Given the description of an element on the screen output the (x, y) to click on. 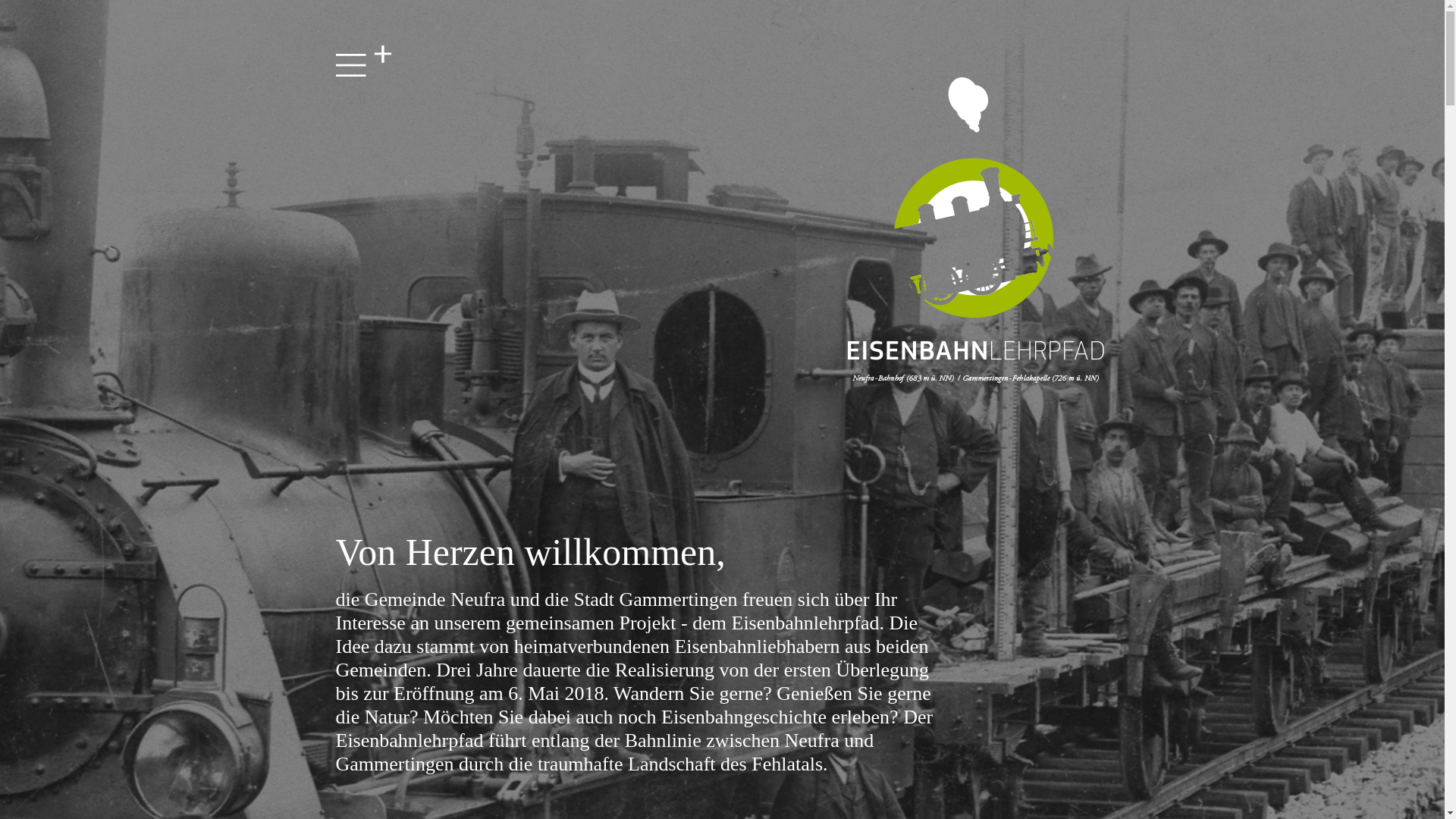
Flyer zum Download (437, 816)
